Given the description of an element on the screen output the (x, y) to click on. 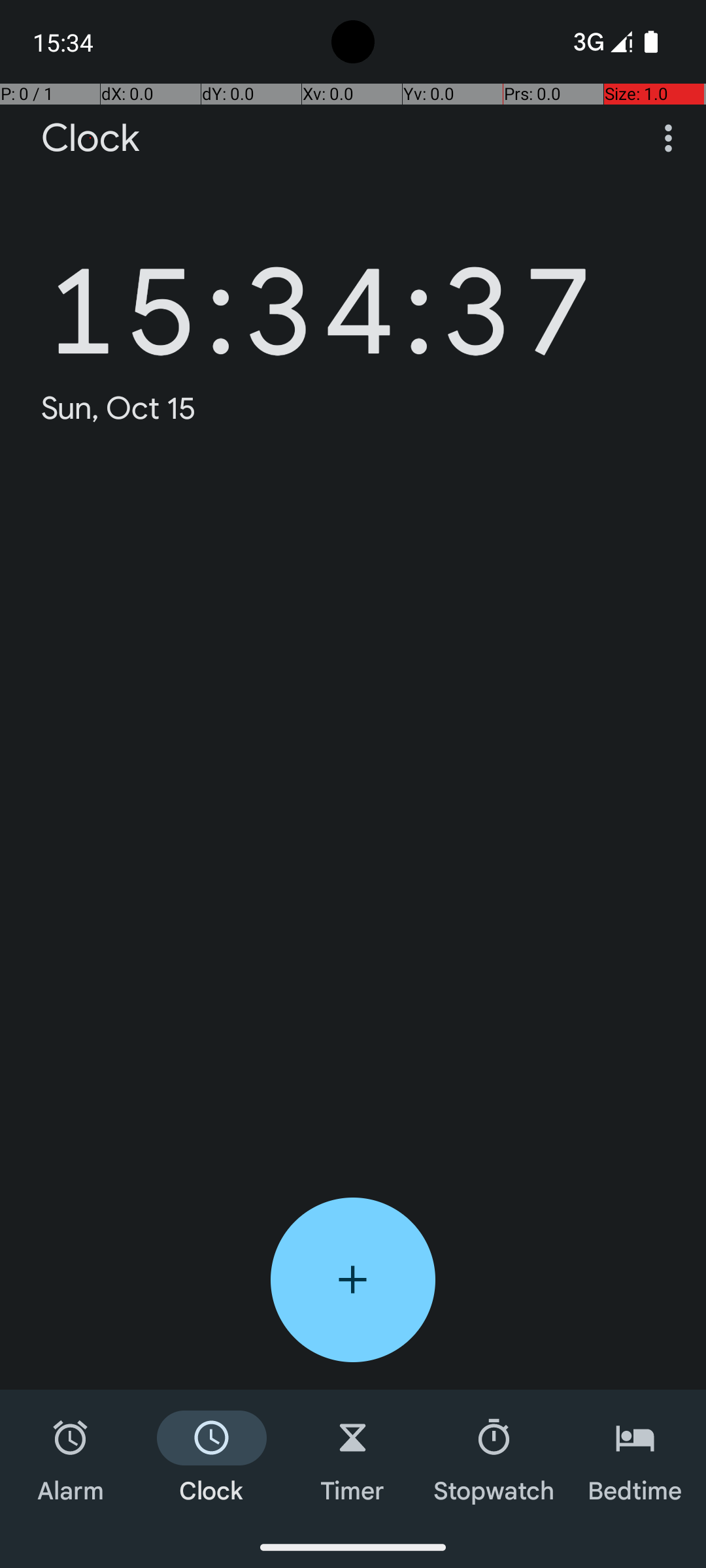
15:34:37 Element type: android.widget.TextView (319, 290)
